Given the description of an element on the screen output the (x, y) to click on. 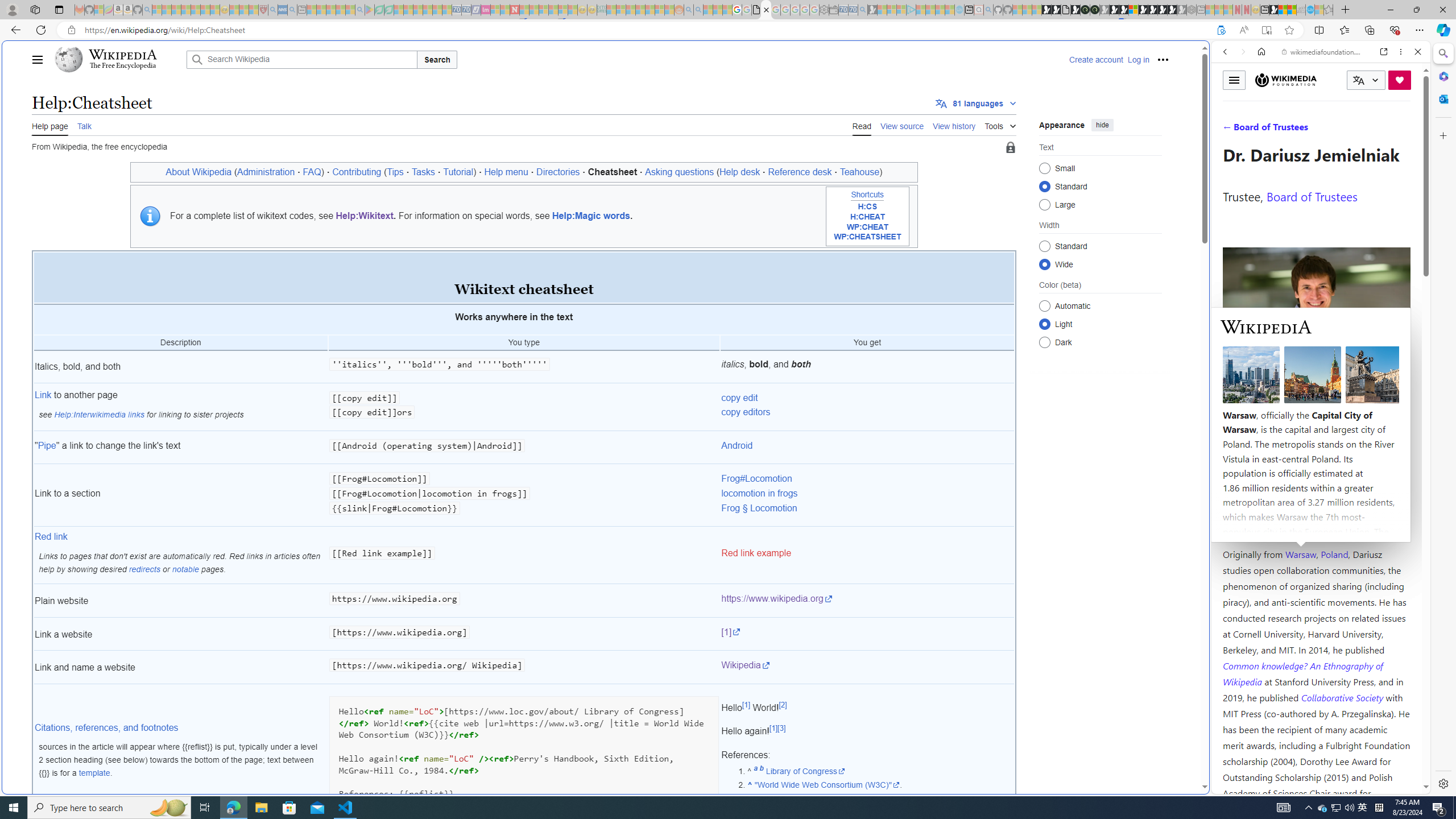
^ Jump up to:a b Library of Congress (879, 771)
Description (180, 343)
Wikimedia Foundation (1286, 79)
[https://www.wikipedia.org] (523, 634)
Jobs - lastminute.com Investor Portal - Sleeping (485, 9)
Wikipedia (745, 665)
